Given the description of an element on the screen output the (x, y) to click on. 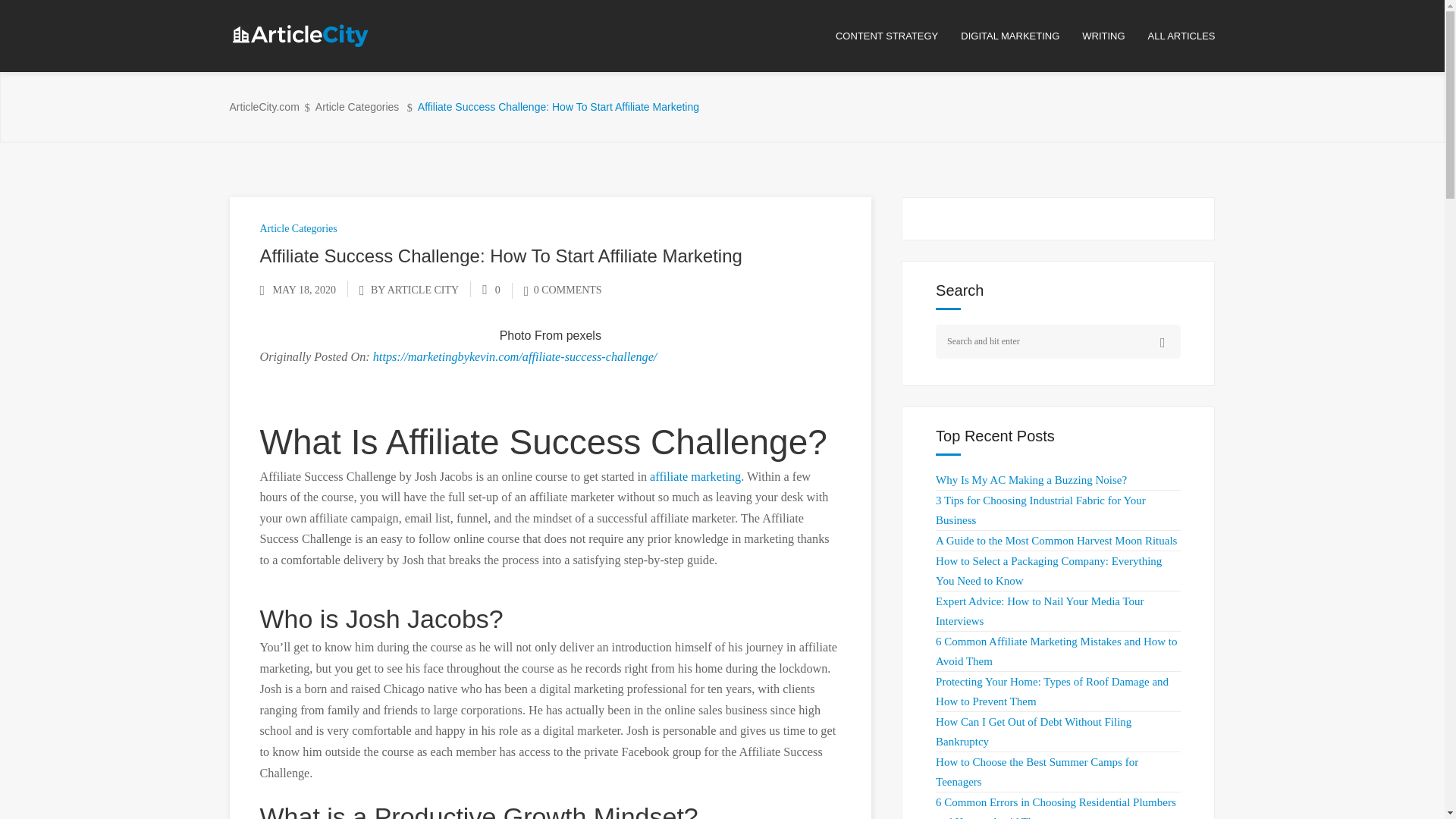
BY ARTICLE CITY (414, 289)
0 (490, 289)
Expert Advice: How to Nail Your Media Tour Interviews (1039, 611)
DIGITAL MARKETING (1020, 36)
A Guide to the Most Common Harvest Moon Rituals (1056, 540)
ArticleCity.com (263, 107)
WRITING (1114, 36)
How Can I Get Out of Debt Without Filing Bankruptcy (1033, 731)
